Given the description of an element on the screen output the (x, y) to click on. 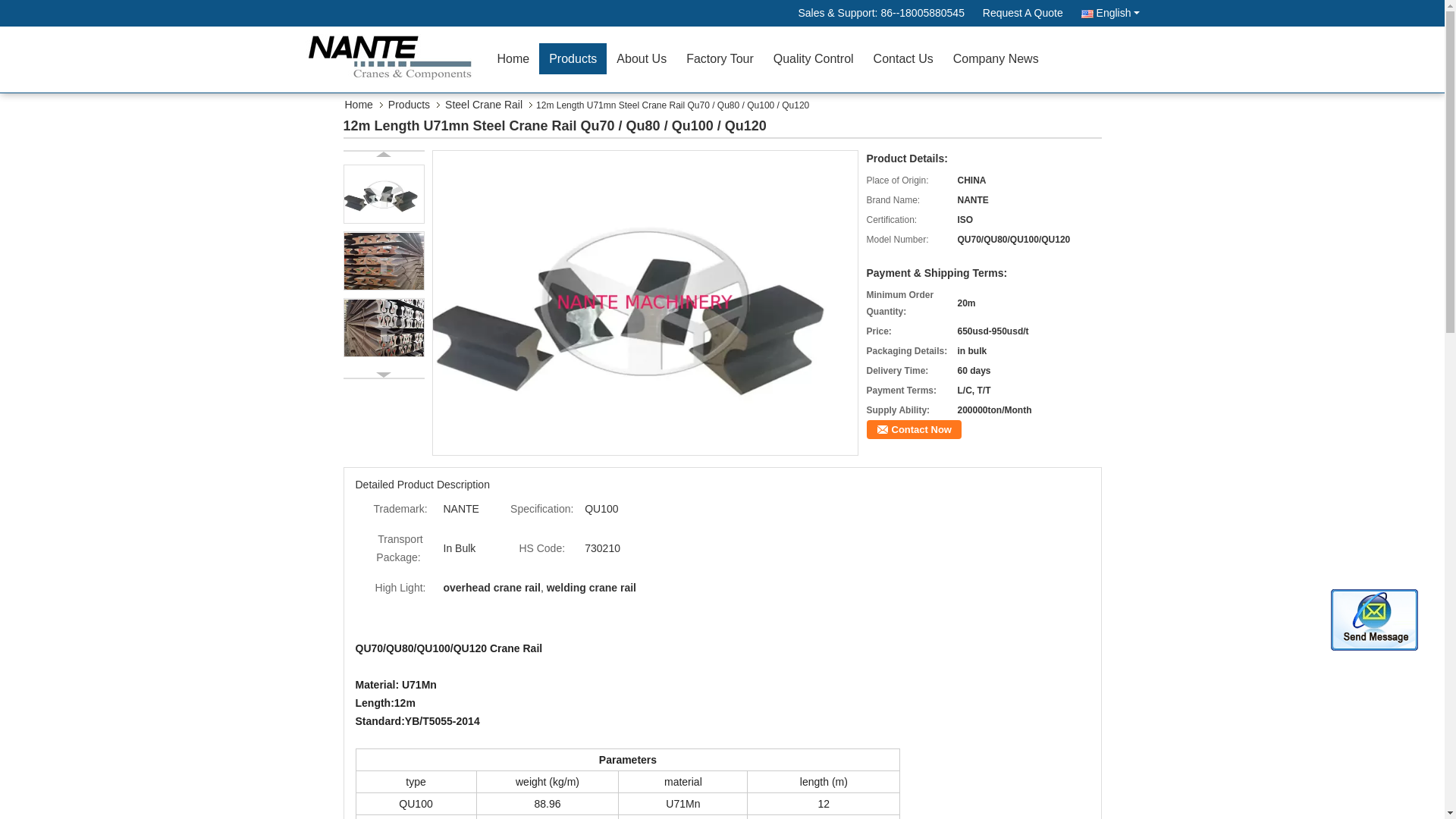
Factory Tour (719, 59)
Request A Quote (1022, 13)
Contact Us (903, 59)
About Us (642, 59)
Company News (995, 59)
Products (572, 59)
English (1110, 13)
Home (512, 59)
Quality Control (812, 59)
